Given the description of an element on the screen output the (x, y) to click on. 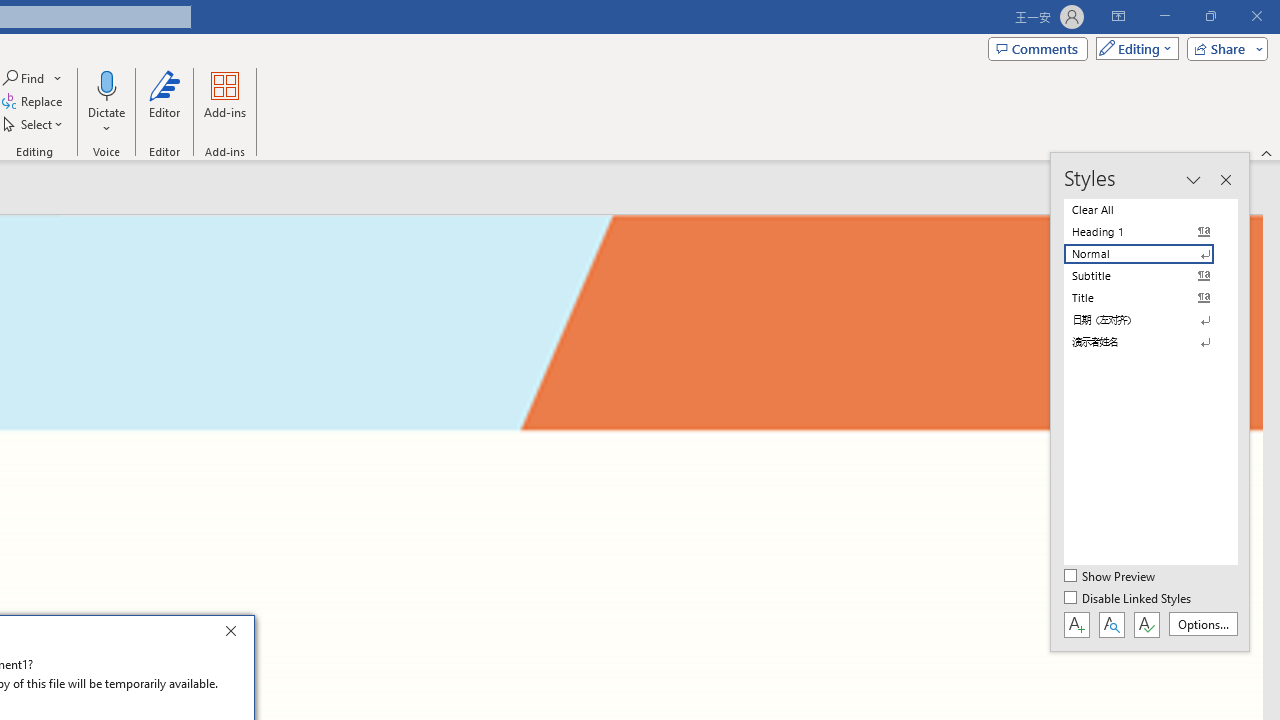
Ribbon Display Options (1118, 16)
Task Pane Options (1193, 179)
Restore Down (1210, 16)
Dictate (106, 84)
Close (236, 633)
Disable Linked Styles (1129, 599)
More Options (106, 121)
Collapse the Ribbon (1267, 152)
Mode (1133, 47)
Dictate (106, 102)
Close pane (1225, 179)
